Given the description of an element on the screen output the (x, y) to click on. 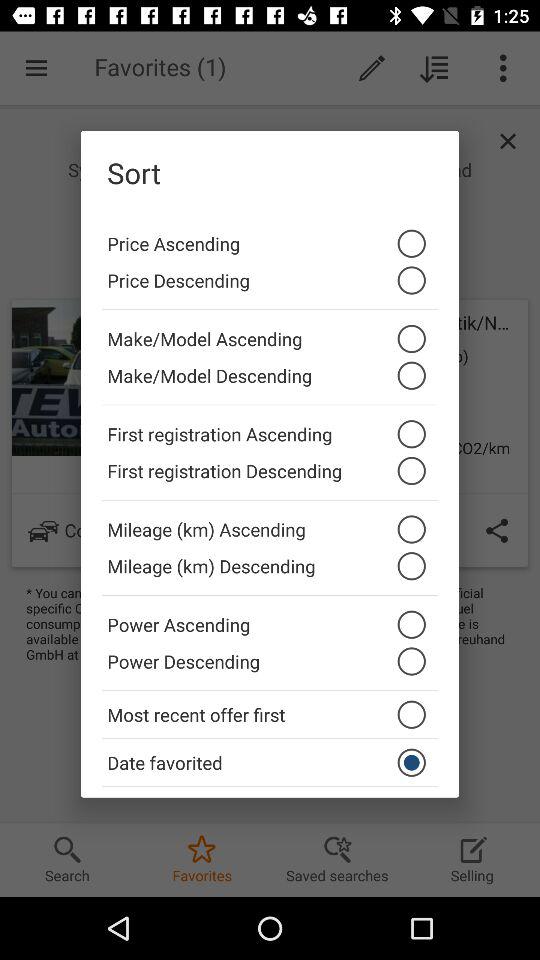
click the price descending (269, 285)
